Given the description of an element on the screen output the (x, y) to click on. 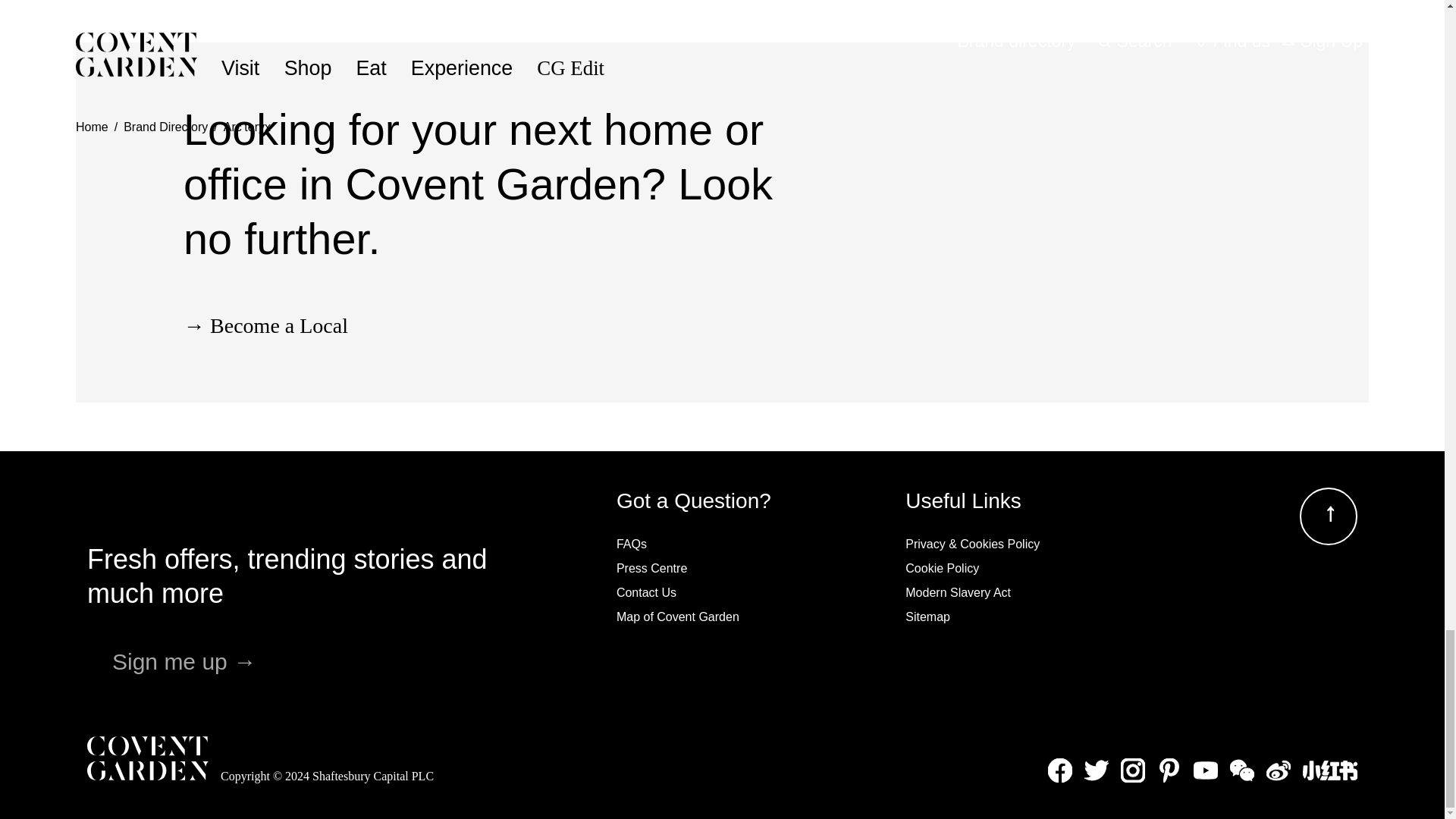
Twitter (1096, 770)
Pinterest (1168, 770)
Facebook (1059, 770)
Little Red book (1329, 770)
Weibo (1278, 770)
Instagram (1132, 770)
